Given the description of an element on the screen output the (x, y) to click on. 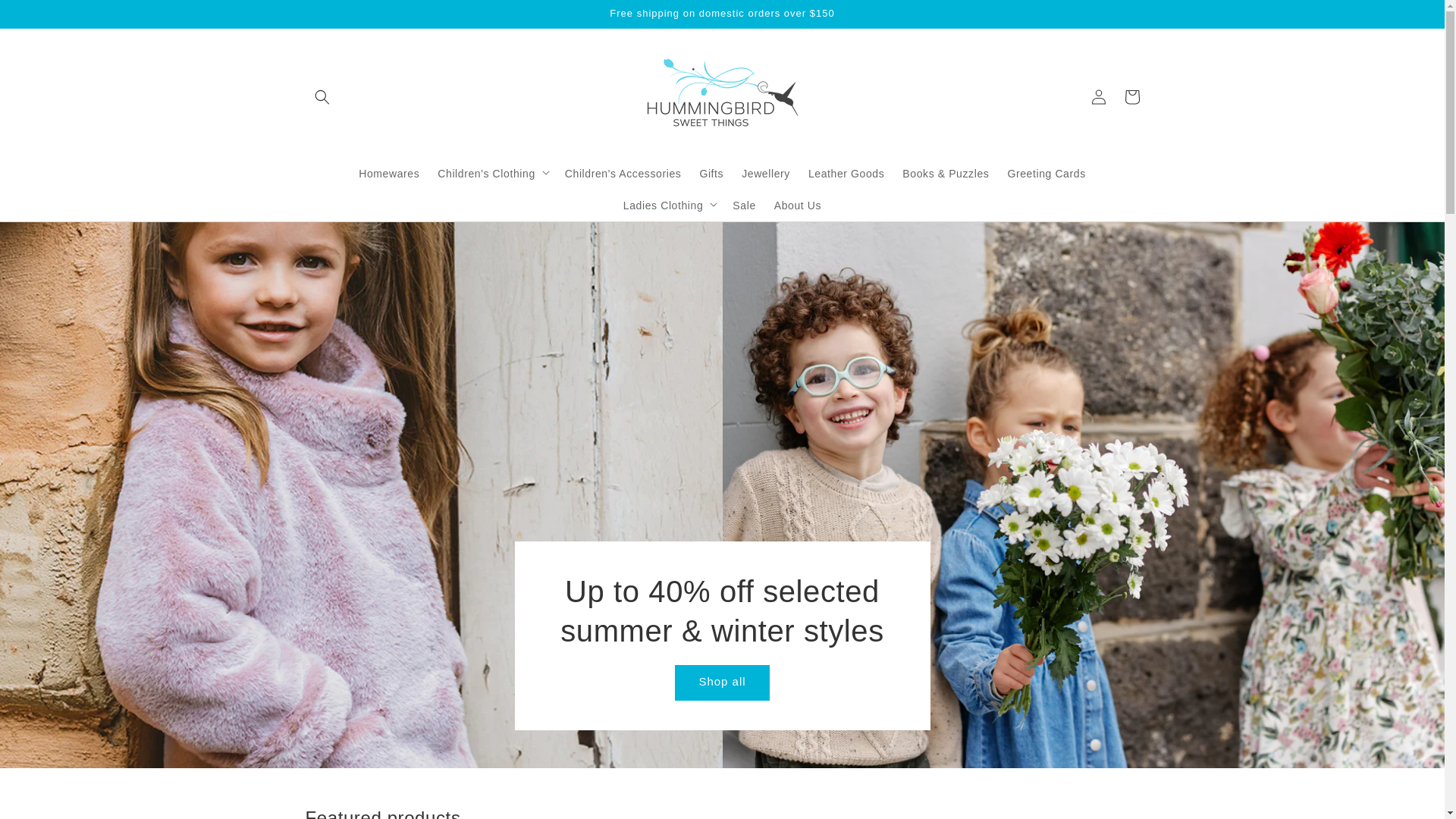
Cart Element type: text (1131, 95)
Books & Puzzles Element type: text (945, 172)
Greeting Cards Element type: text (1045, 172)
About Us Element type: text (797, 205)
Leather Goods Element type: text (846, 172)
Homewares Element type: text (388, 172)
Shop all Element type: text (721, 682)
Jewellery Element type: text (765, 172)
Sale Element type: text (743, 205)
Log in Element type: text (1097, 95)
Gifts Element type: text (711, 172)
Children's Accessories Element type: text (622, 172)
